Given the description of an element on the screen output the (x, y) to click on. 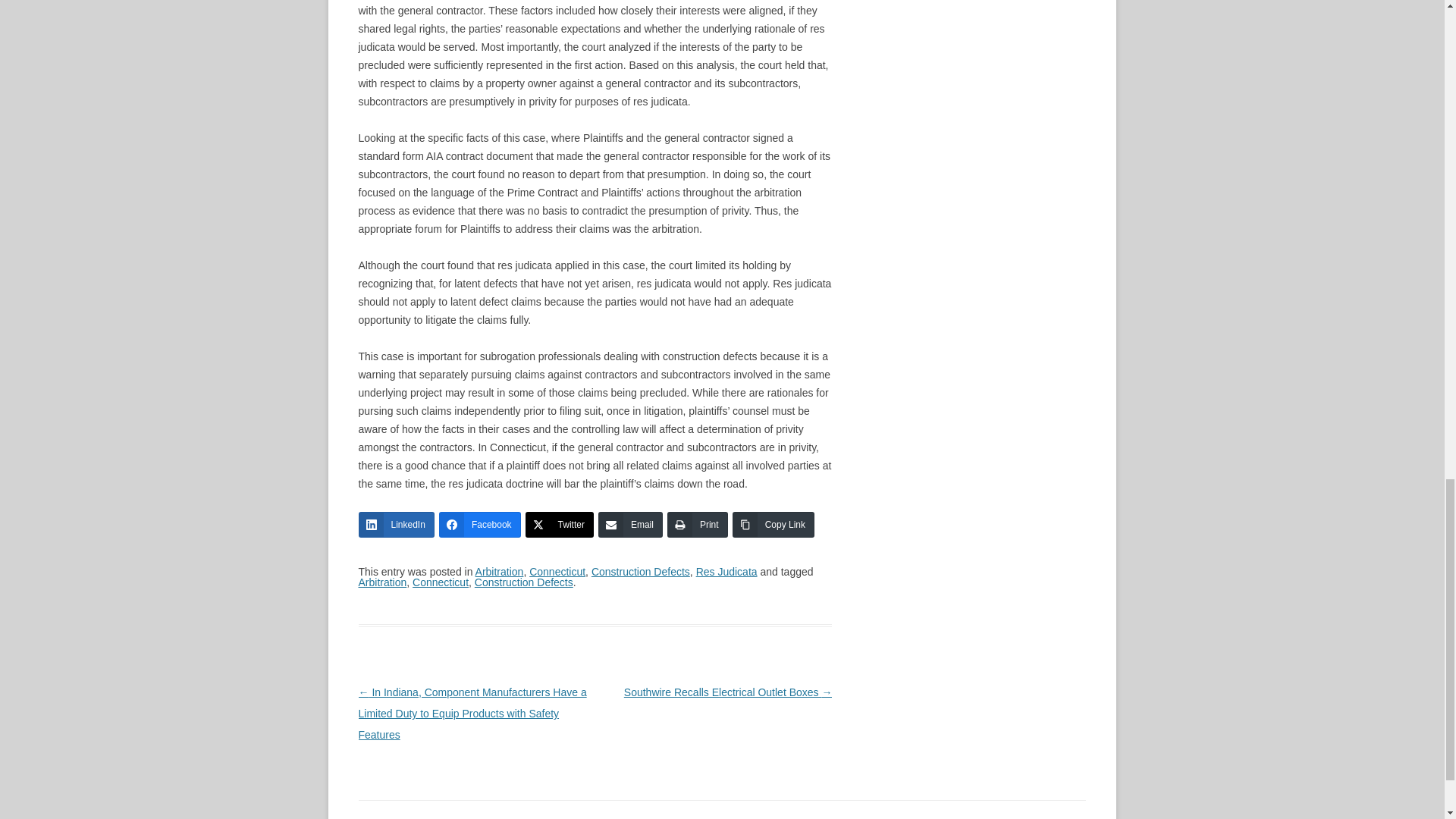
Print (697, 524)
LinkedIn (395, 524)
Construction Defects (523, 582)
Arbitration (500, 571)
Arbitration (382, 582)
Connecticut (557, 571)
Connecticut (440, 582)
Res Judicata (726, 571)
Copy Link (772, 524)
Facebook (480, 524)
Twitter (559, 524)
Construction Defects (640, 571)
Email (630, 524)
